Given the description of an element on the screen output the (x, y) to click on. 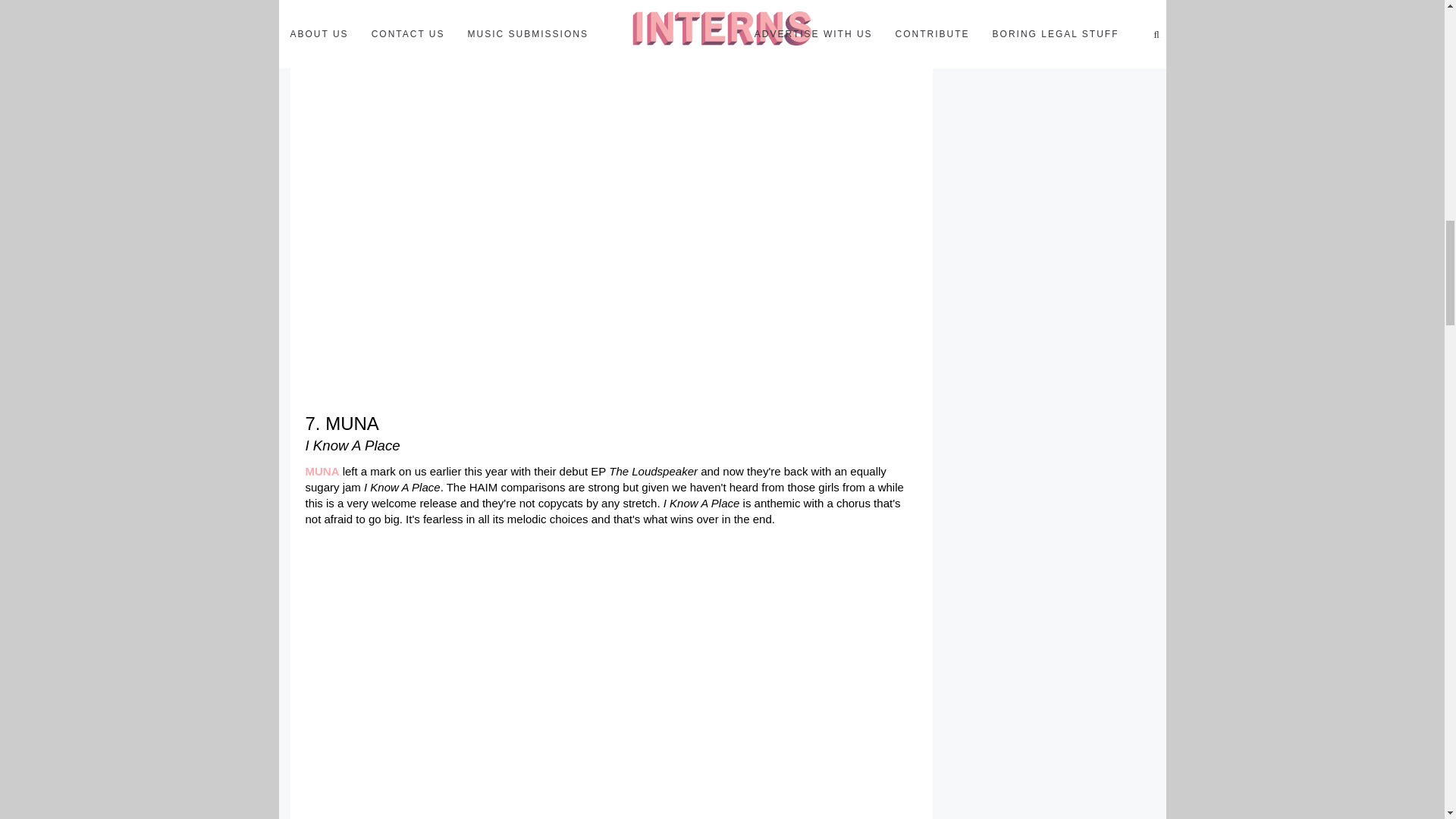
MUNA (321, 471)
